Given the description of an element on the screen output the (x, y) to click on. 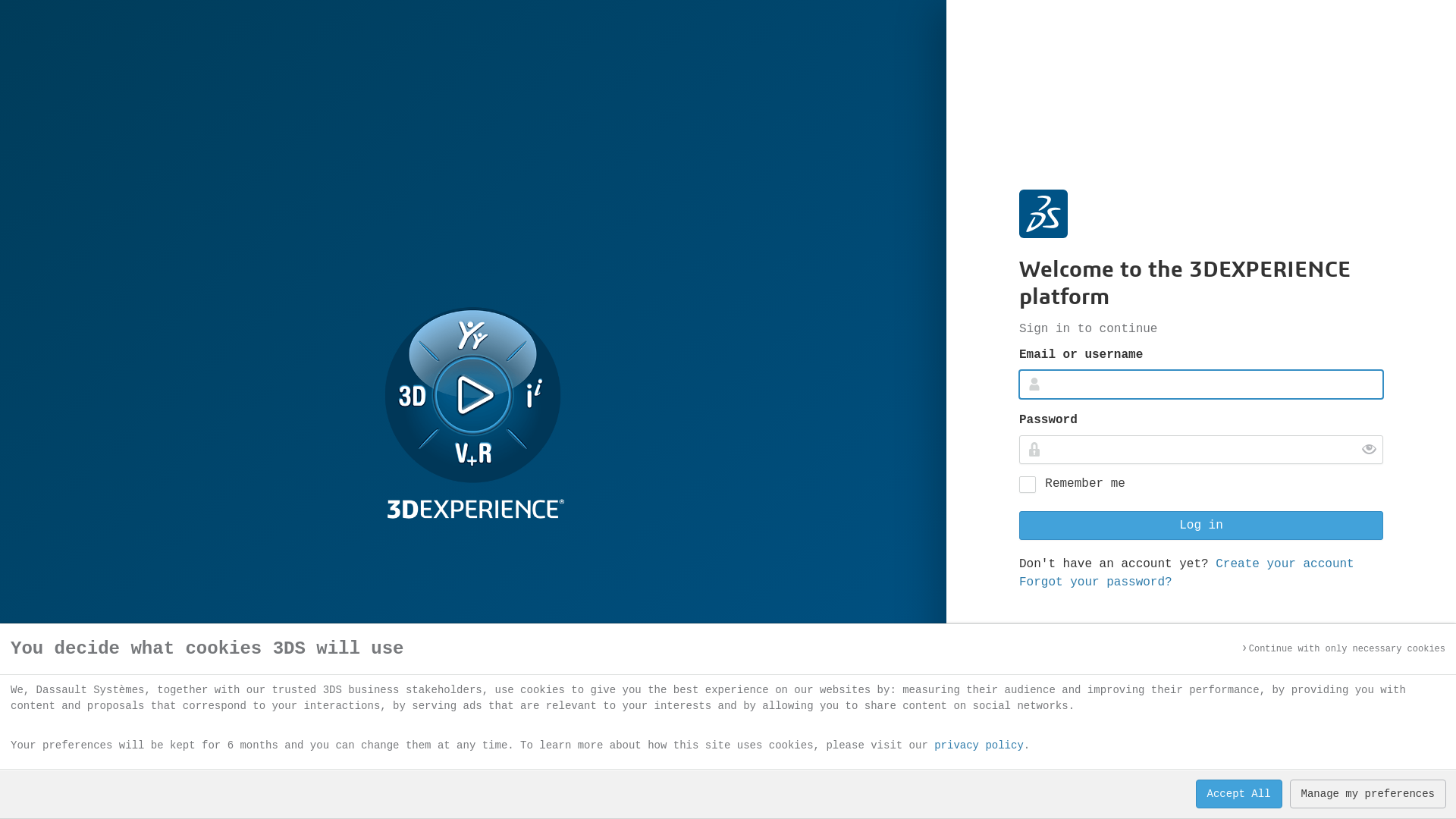
Forgot your password? Element type: text (1095, 581)
Create your account Element type: text (1284, 563)
Manage cookies Element type: text (1338, 771)
English Element type: text (1055, 770)
Help Element type: text (1193, 771)
Accept All Element type: text (1238, 793)
Manage my preferences Element type: text (1367, 793)
Log in Element type: text (1201, 525)
privacy policy Element type: text (978, 745)
